Given the description of an element on the screen output the (x, y) to click on. 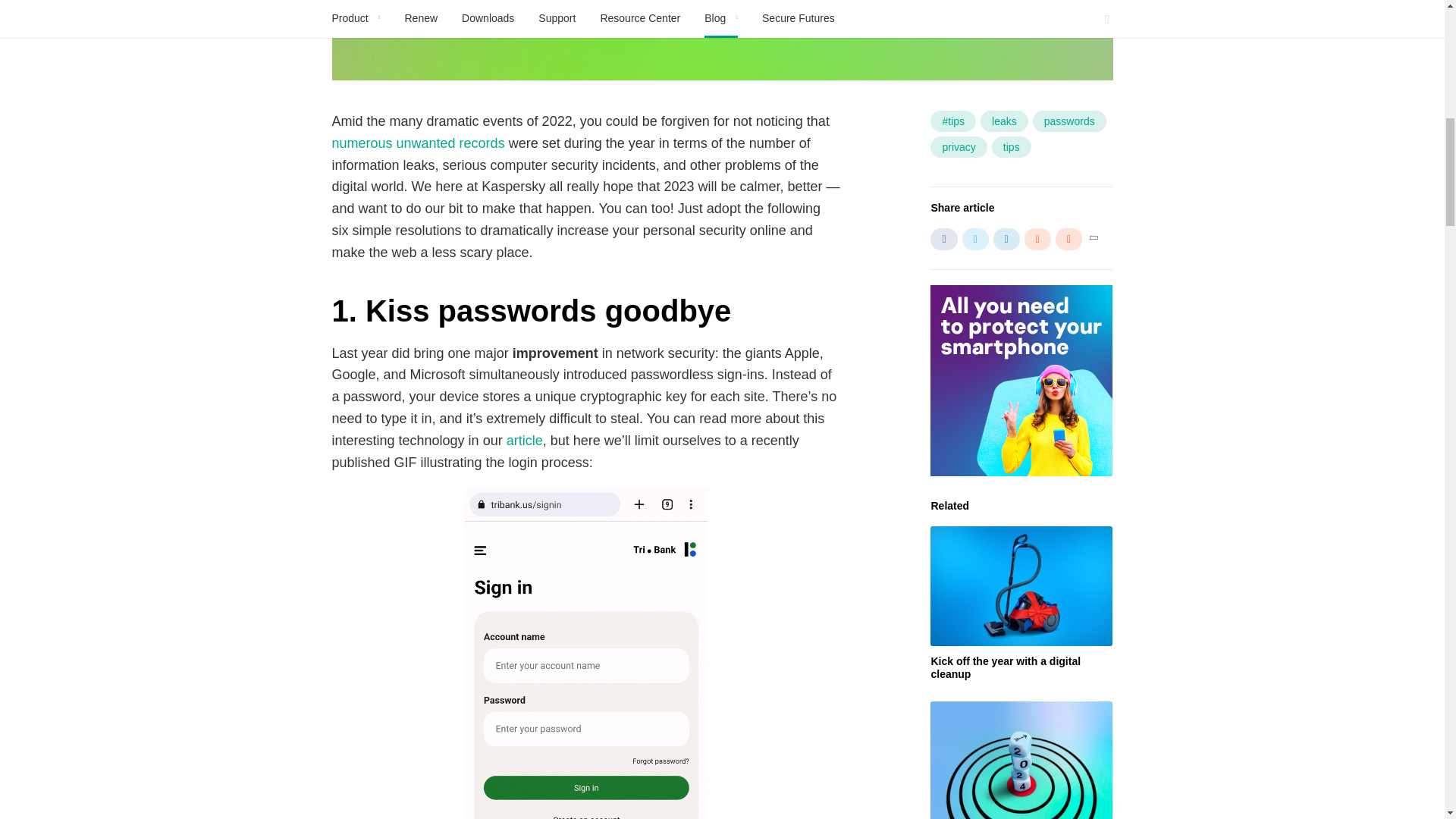
Share via LinkedIn (1006, 239)
Share via HackerNews (1068, 239)
Share via Twitter (975, 239)
Share via Reddit (1038, 239)
Share via Facebook (943, 239)
